Given the description of an element on the screen output the (x, y) to click on. 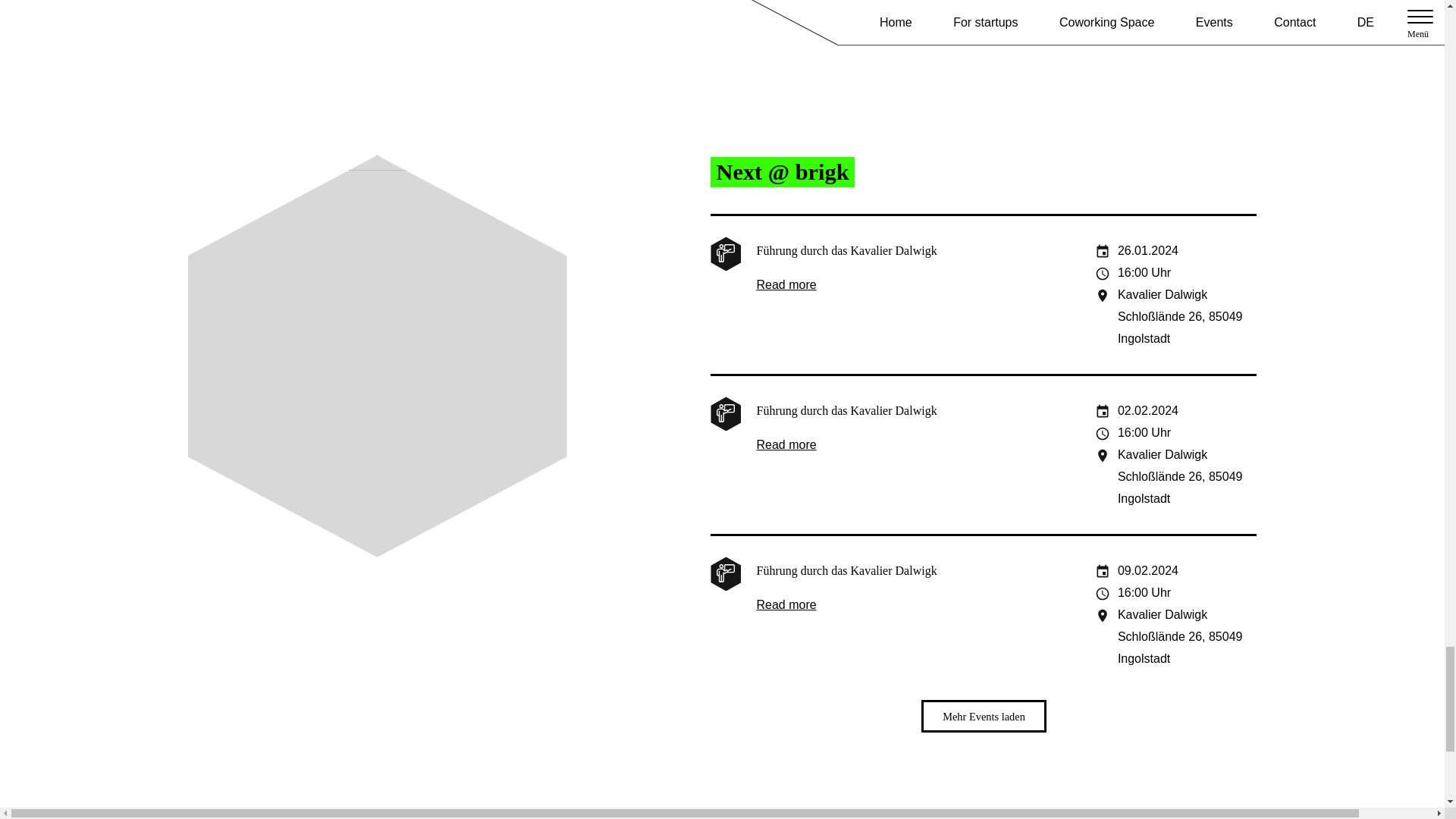
Read more (785, 285)
Read more (785, 605)
Read more (785, 445)
